Given the description of an element on the screen output the (x, y) to click on. 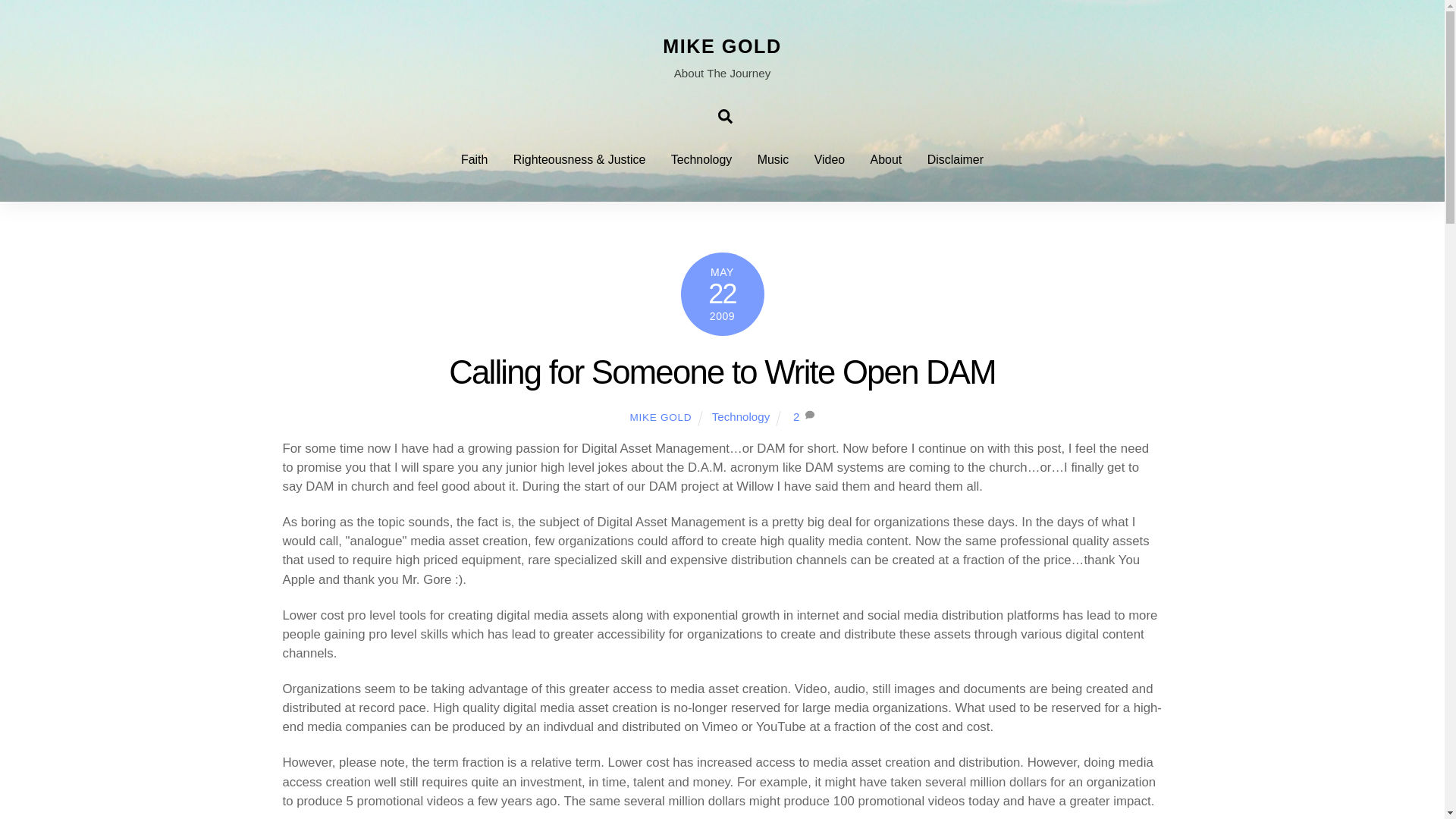
Video (828, 159)
About (886, 159)
Disclaimer (955, 159)
Search (724, 115)
Mike Gold (721, 46)
Technology (701, 159)
MIKE GOLD (659, 417)
MIKE GOLD (721, 46)
Technology (740, 416)
Music (773, 159)
